Given the description of an element on the screen output the (x, y) to click on. 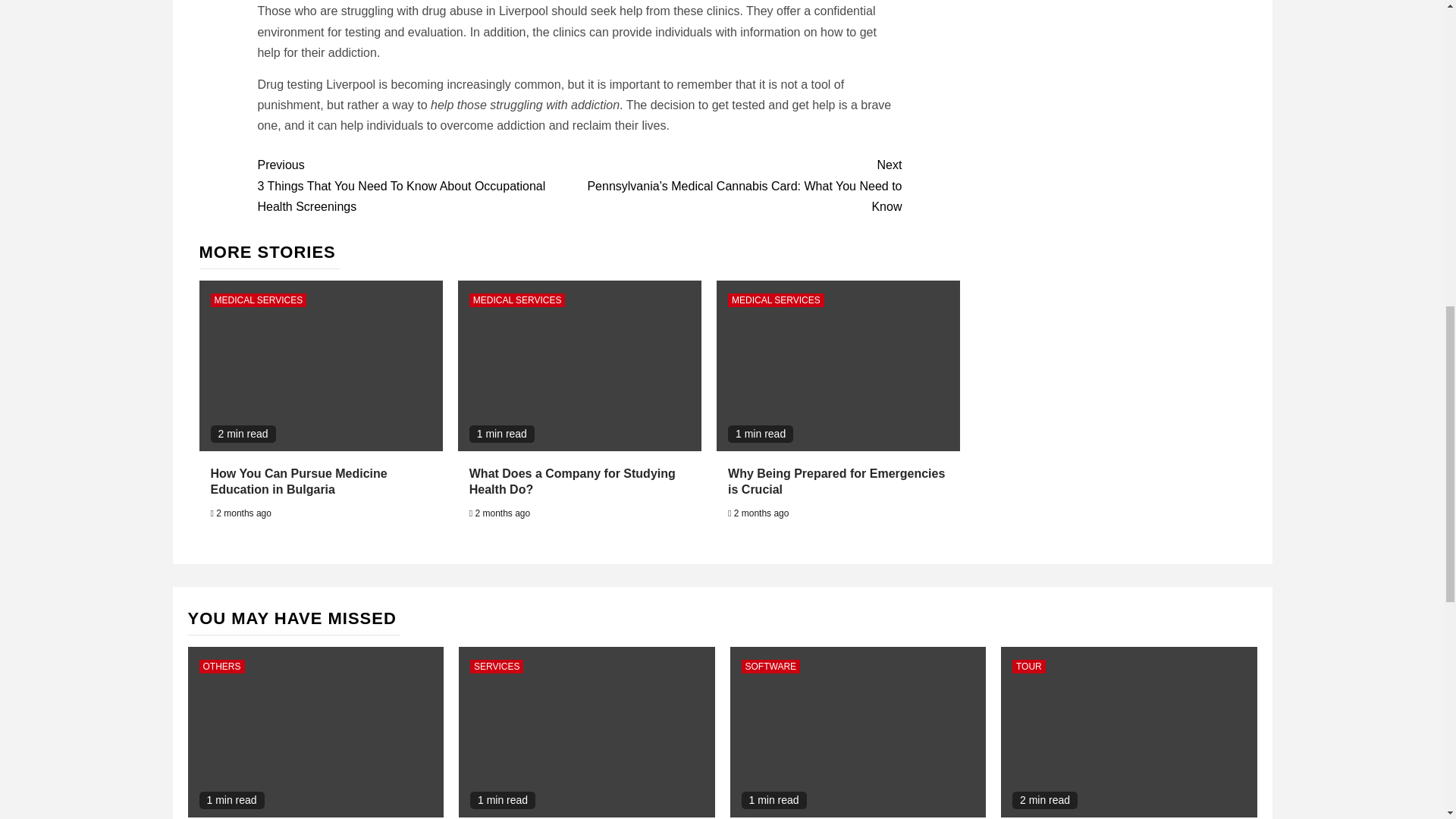
SERVICES (496, 666)
MEDICAL SERVICES (259, 300)
How You Can Pursue Medicine Education in Bulgaria (299, 481)
TOUR (1028, 666)
Why Being Prepared for Emergencies is Crucial (836, 481)
MEDICAL SERVICES (776, 300)
MEDICAL SERVICES (517, 300)
OTHERS (221, 666)
SOFTWARE (770, 666)
